Given the description of an element on the screen output the (x, y) to click on. 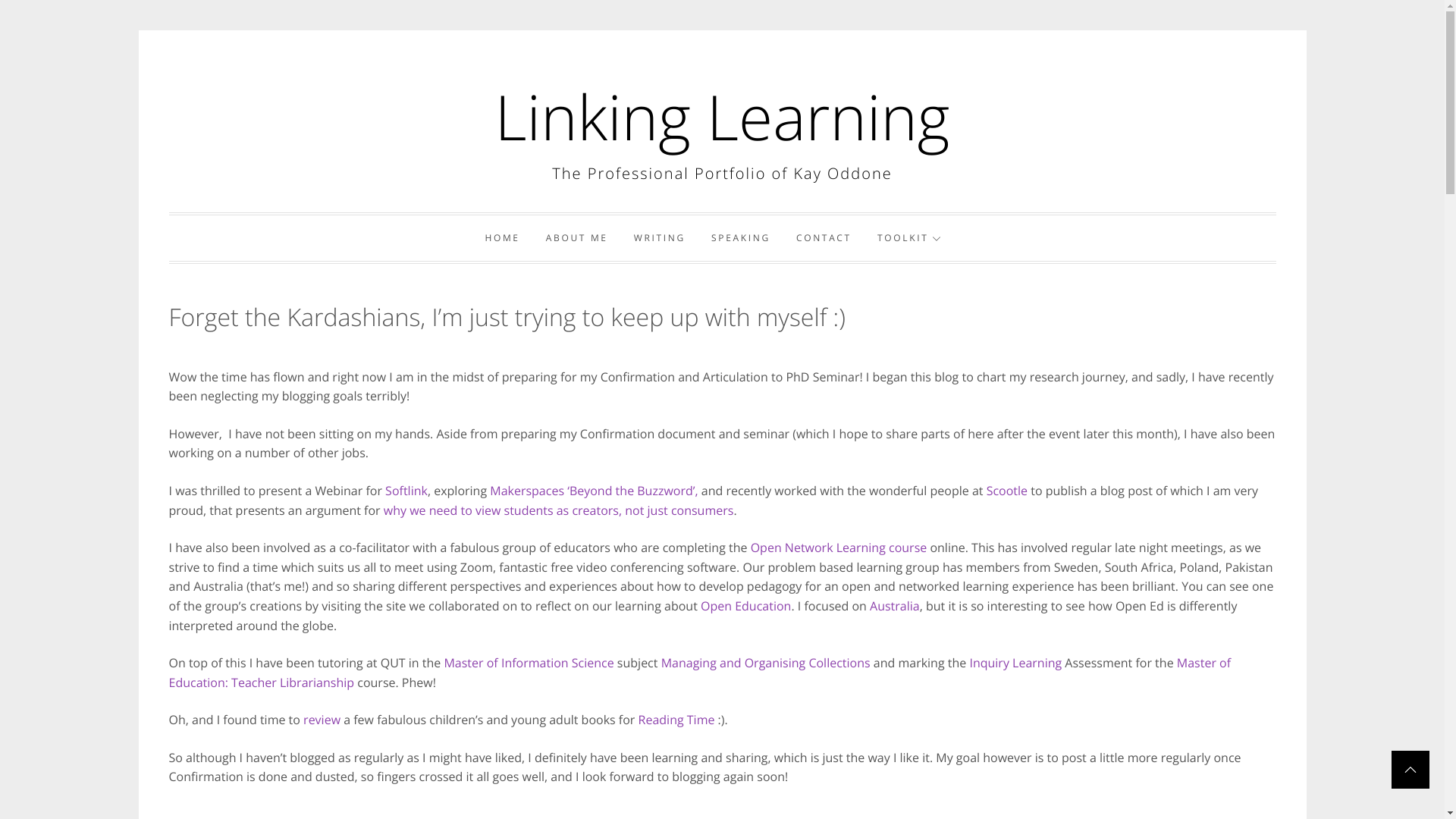
Managing and Organising Collections Element type: text (765, 662)
Reading Time Element type: text (676, 719)
WRITING Element type: text (659, 237)
Softlink Element type: text (406, 490)
SPEAKING Element type: text (740, 237)
CONTACT Element type: text (823, 237)
Open Education Element type: text (745, 605)
Inquiry Learning Element type: text (1016, 662)
Master of Information Science Element type: text (528, 662)
ABOUT ME Element type: text (577, 237)
Open Network Learning course Element type: text (838, 547)
TOOLKIT Element type: text (909, 237)
Australia Element type: text (894, 605)
HOME Element type: text (501, 237)
Master of Education: Teacher Librarianship Element type: text (699, 672)
Linking Learning Element type: text (722, 116)
Skip to content Element type: text (138, 29)
Scootle Element type: text (1006, 490)
why we need to view students as creators, not just consumers Element type: text (558, 510)
review Element type: text (321, 719)
